Given the description of an element on the screen output the (x, y) to click on. 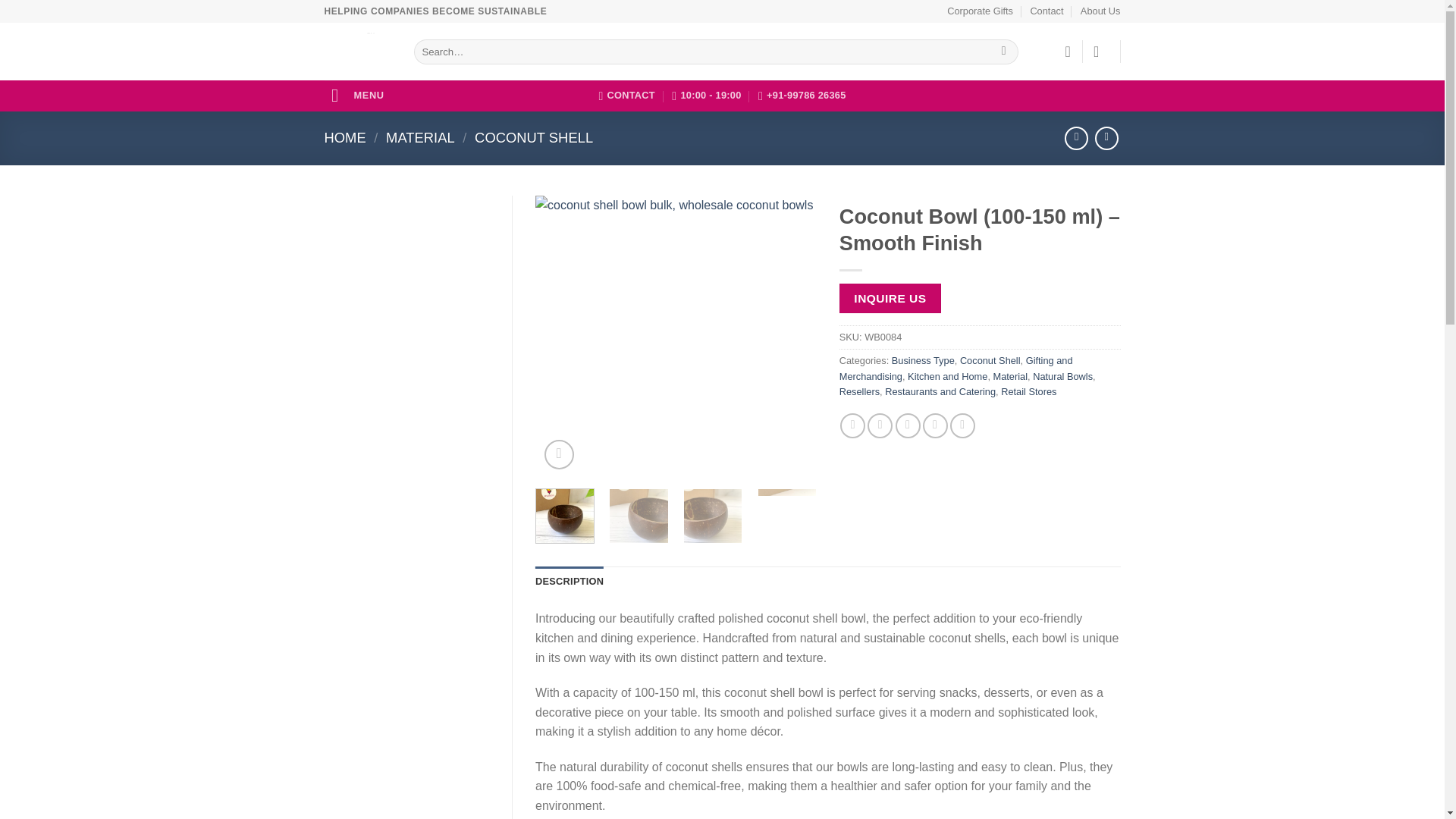
Share on Facebook (852, 425)
Business Type (923, 360)
Share on Twitter (879, 425)
Search (1003, 52)
Coconut Bowl 3 (1237, 335)
COCONUT SHELL (533, 137)
Email to a Friend (907, 425)
Coconut Shell (989, 360)
HOME (345, 137)
CONTACT (626, 95)
Zoom (558, 454)
Material (1009, 376)
Corporate Gifts (980, 11)
About Us (1100, 11)
Gifting and Merchandising (956, 367)
